Given the description of an element on the screen output the (x, y) to click on. 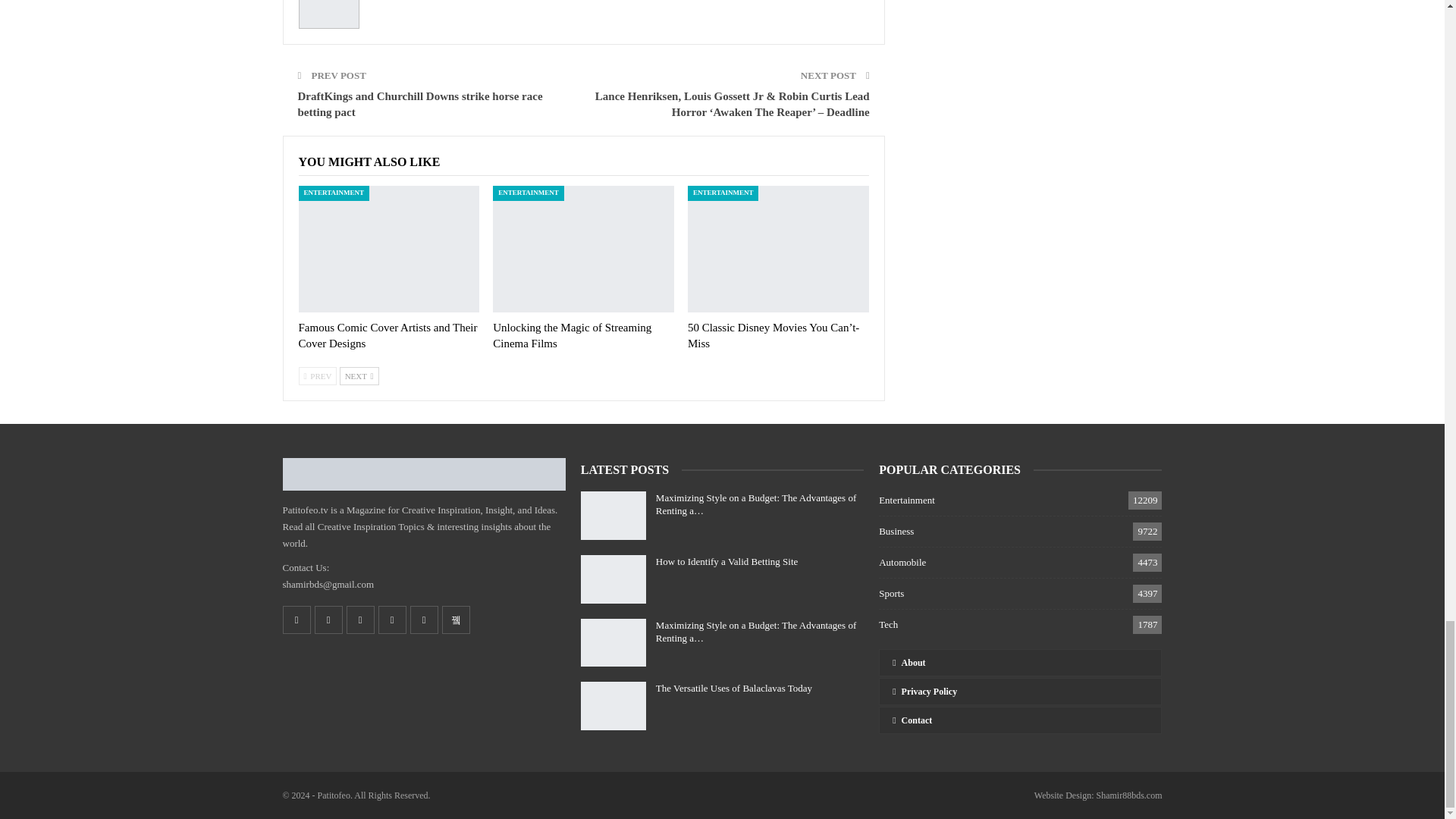
Unlocking the Magic of Streaming Cinema Films (583, 248)
Famous Comic Cover Artists and Their Cover Designs (389, 248)
Next (358, 375)
Unlocking the Magic of Streaming Cinema Films (571, 335)
Famous Comic Cover Artists and Their Cover Designs (387, 335)
Previous (317, 375)
